Given the description of an element on the screen output the (x, y) to click on. 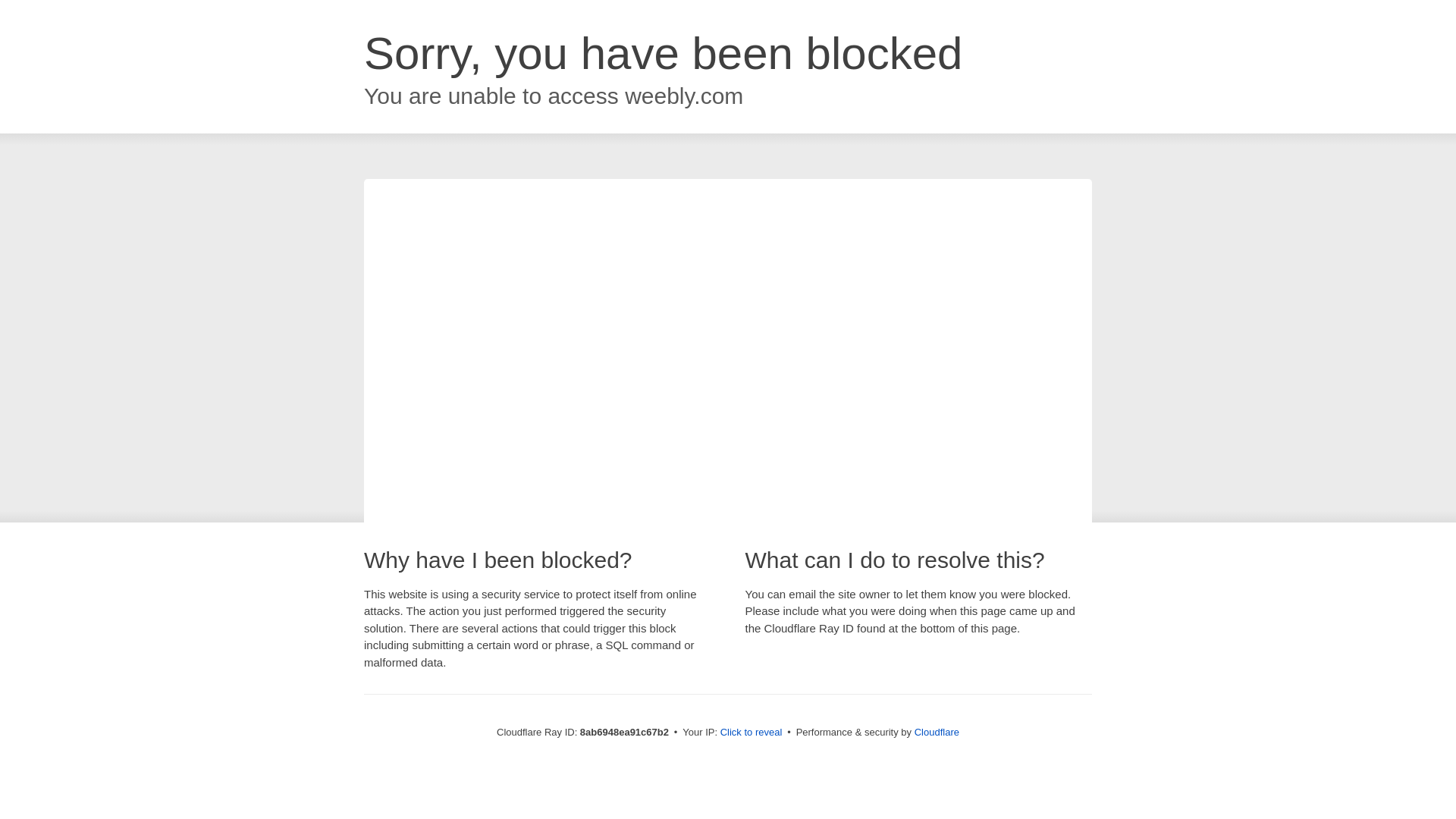
Click to reveal (751, 732)
Cloudflare (936, 731)
